Given the description of an element on the screen output the (x, y) to click on. 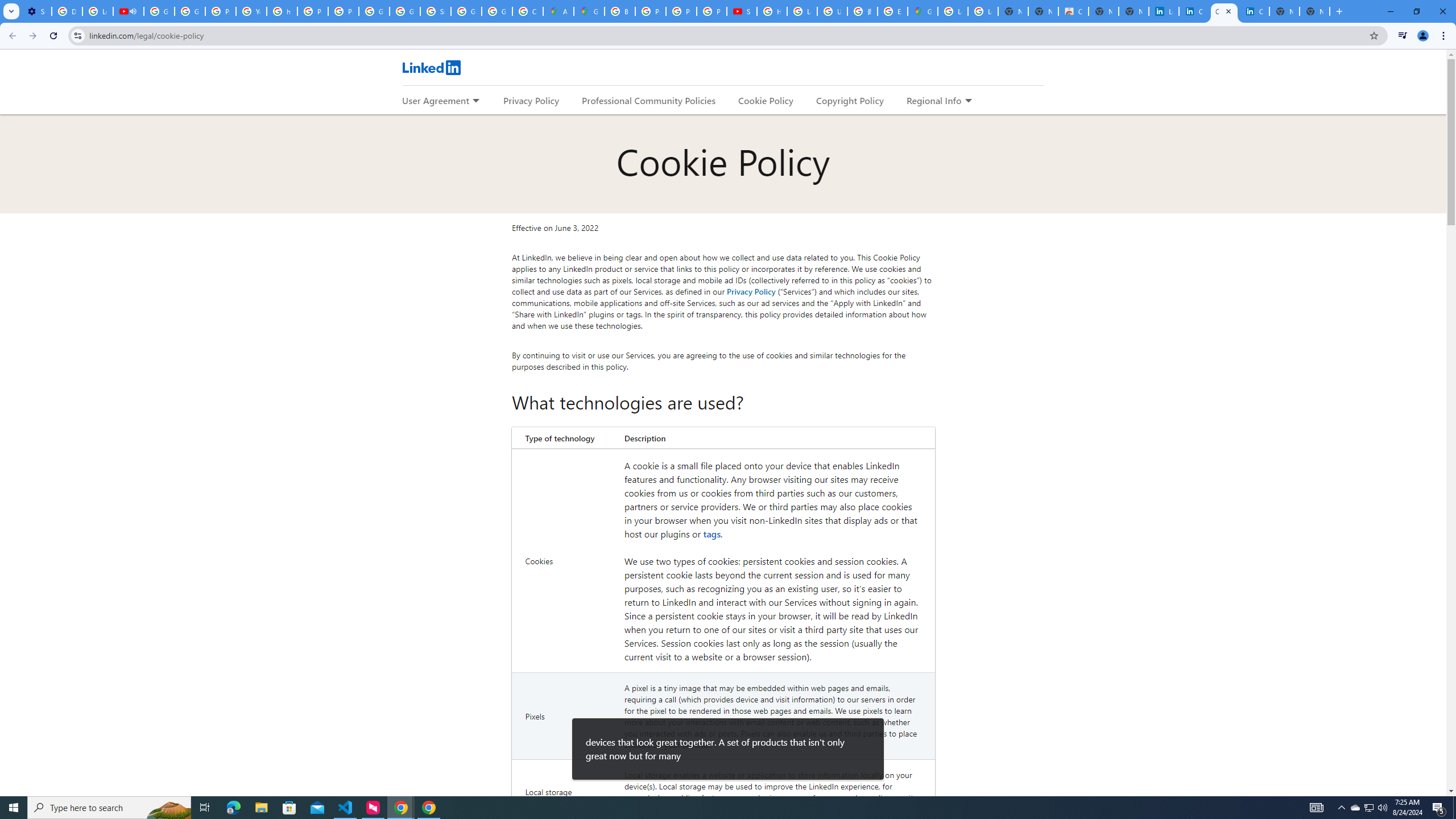
Cookie Policy | LinkedIn (1224, 11)
https://scholar.google.com/ (282, 11)
New Tab (1314, 11)
tags (711, 533)
Learn how to find your photos - Google Photos Help (97, 11)
Privacy Help Center - Policies Help (650, 11)
Copyright Policy (1254, 11)
YouTube (251, 11)
Regional Info (933, 100)
